Given the description of an element on the screen output the (x, y) to click on. 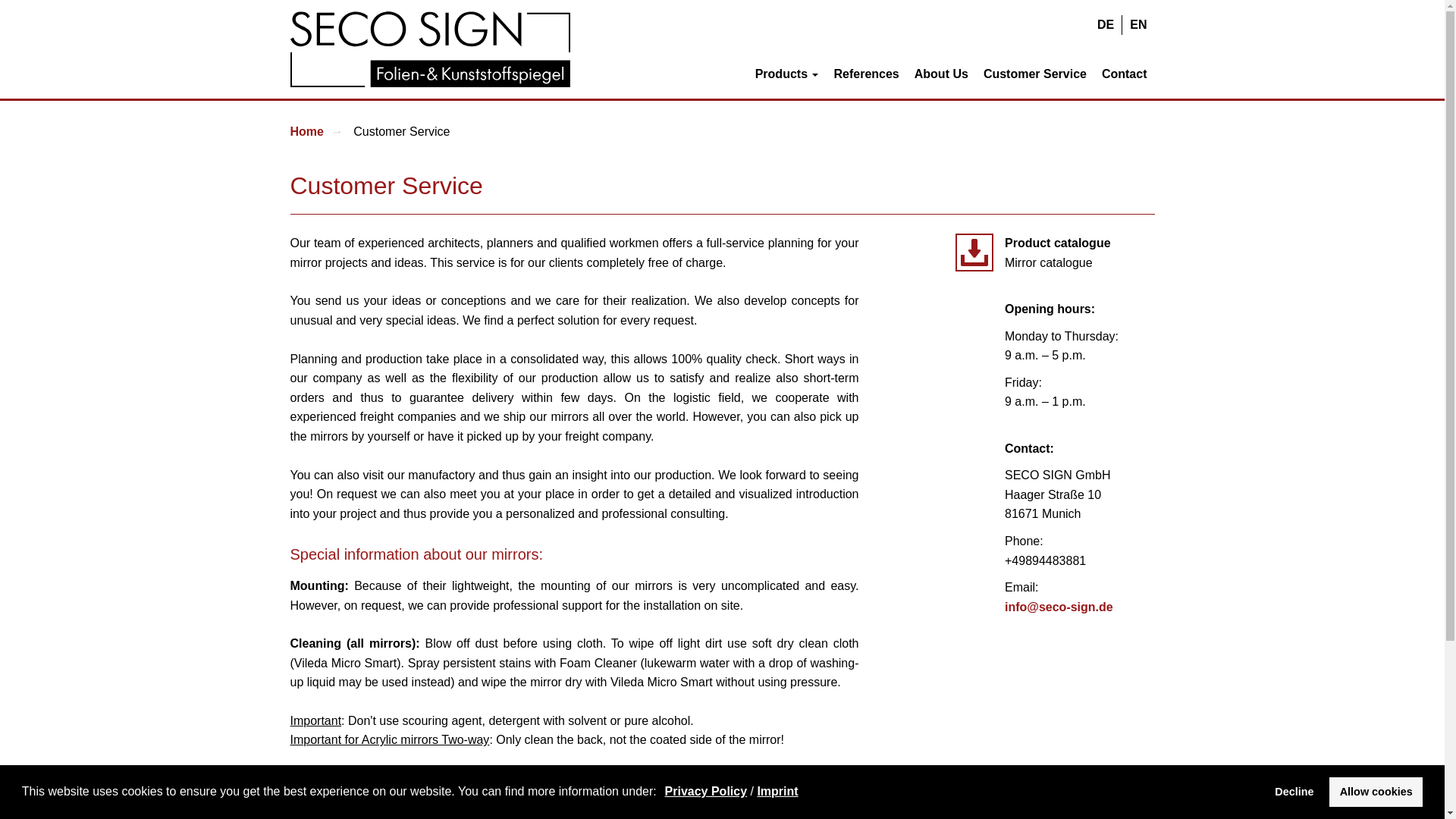
Privacy Policy (706, 790)
References (865, 73)
Decline (1294, 791)
Imprint (777, 790)
Contact (1124, 73)
Home (306, 131)
DE (1105, 25)
About Us (941, 73)
EN (1137, 25)
Products (787, 73)
